Given the description of an element on the screen output the (x, y) to click on. 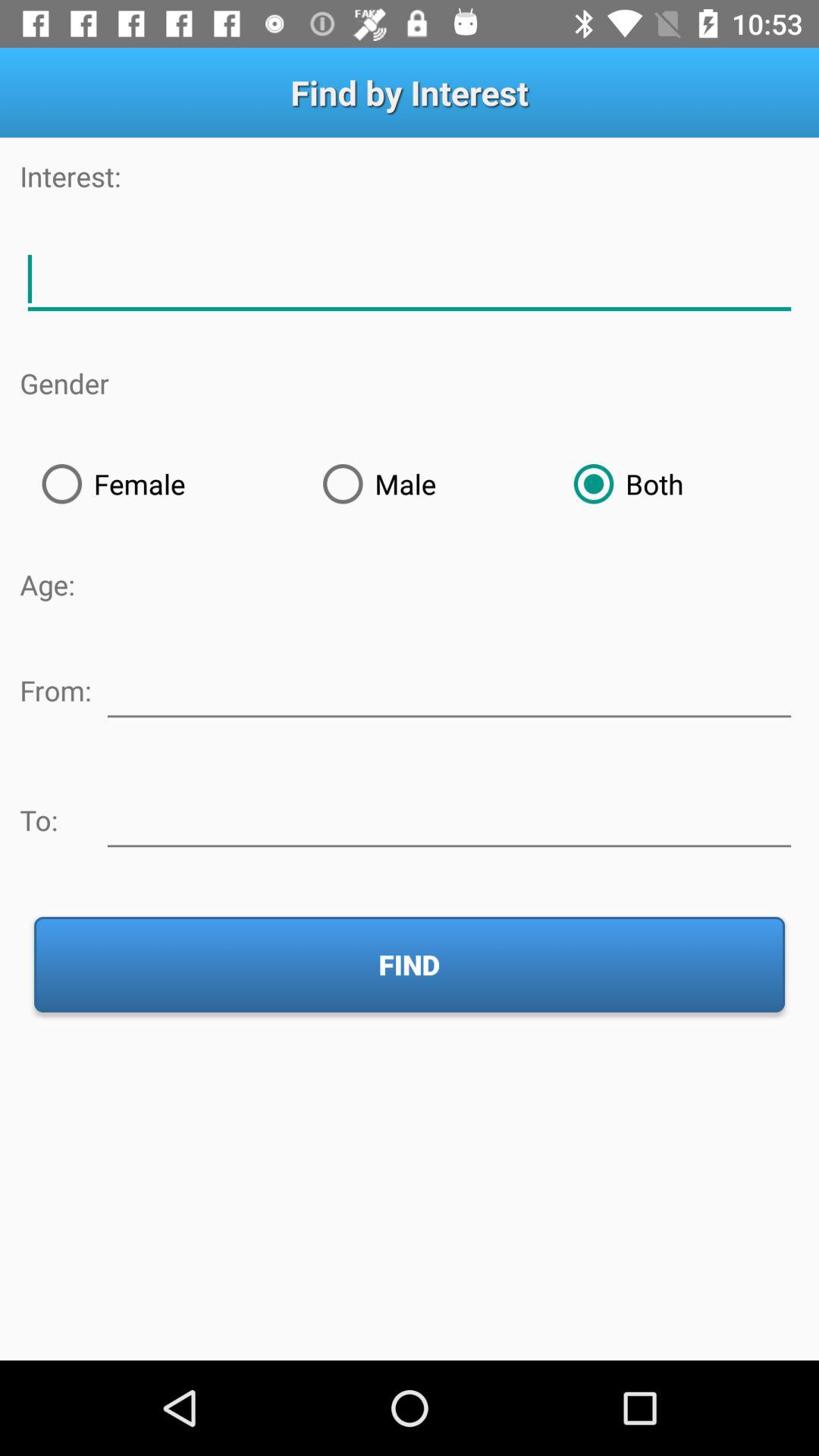
describe interests (409, 279)
